Given the description of an element on the screen output the (x, y) to click on. 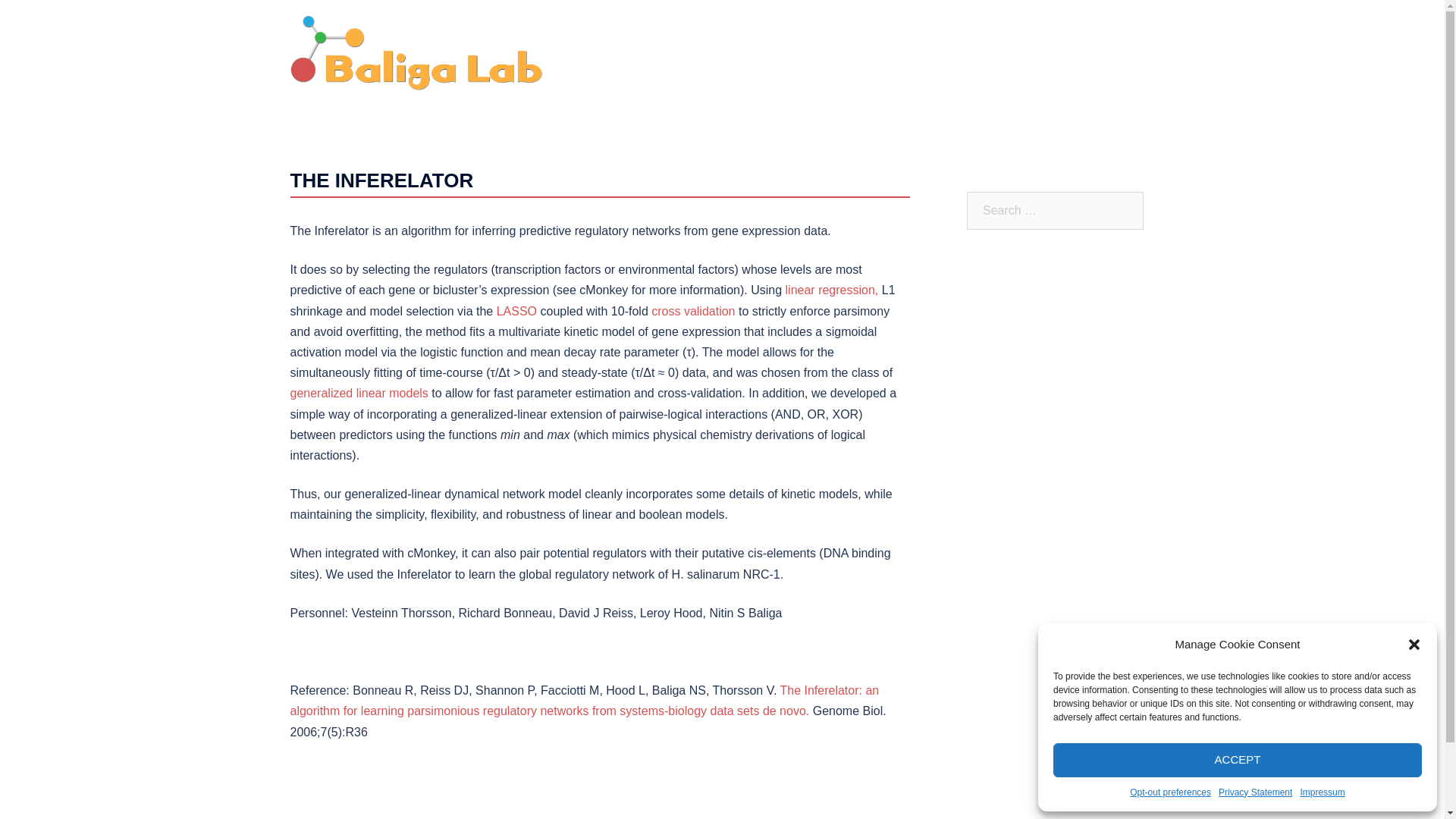
Baliga Lab (416, 51)
linear regression, (832, 289)
Resources (1060, 53)
ACCEPT (1237, 759)
cross validation (692, 310)
LASSO (516, 310)
Impressum (1321, 792)
Publications (917, 53)
Team (853, 53)
